Given the description of an element on the screen output the (x, y) to click on. 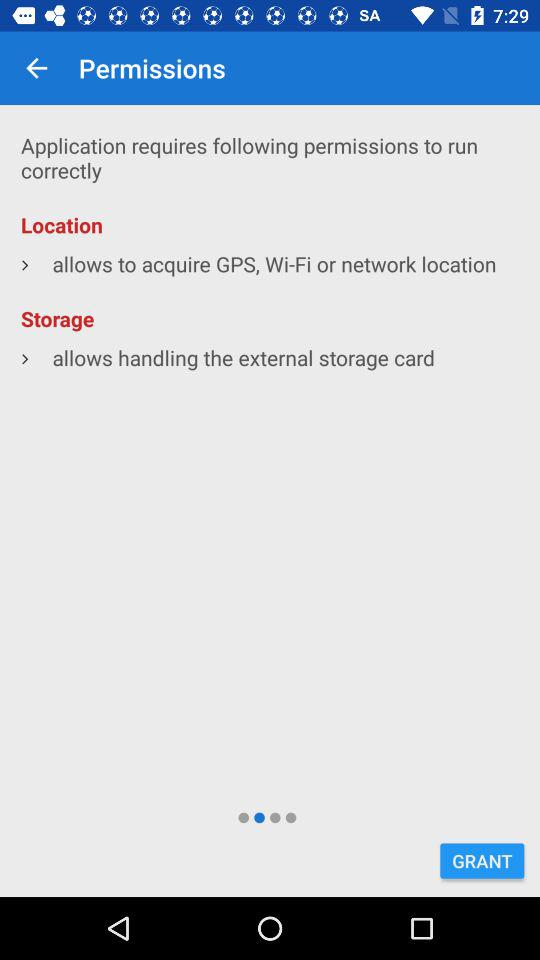
jump until grant (482, 860)
